Given the description of an element on the screen output the (x, y) to click on. 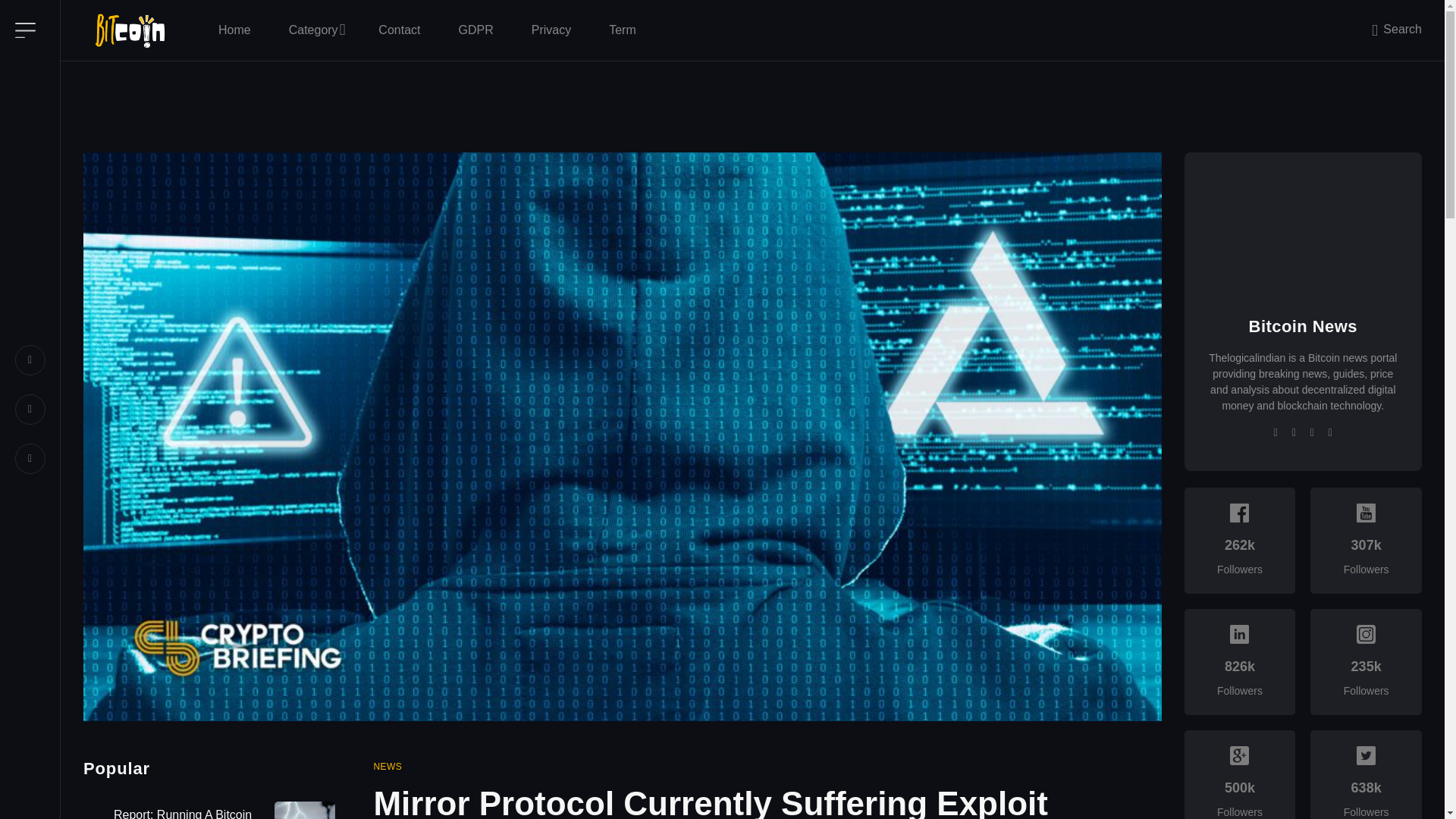
Category (314, 30)
Contact (399, 30)
GDPR (475, 30)
Home (234, 30)
Privacy (550, 30)
